Given the description of an element on the screen output the (x, y) to click on. 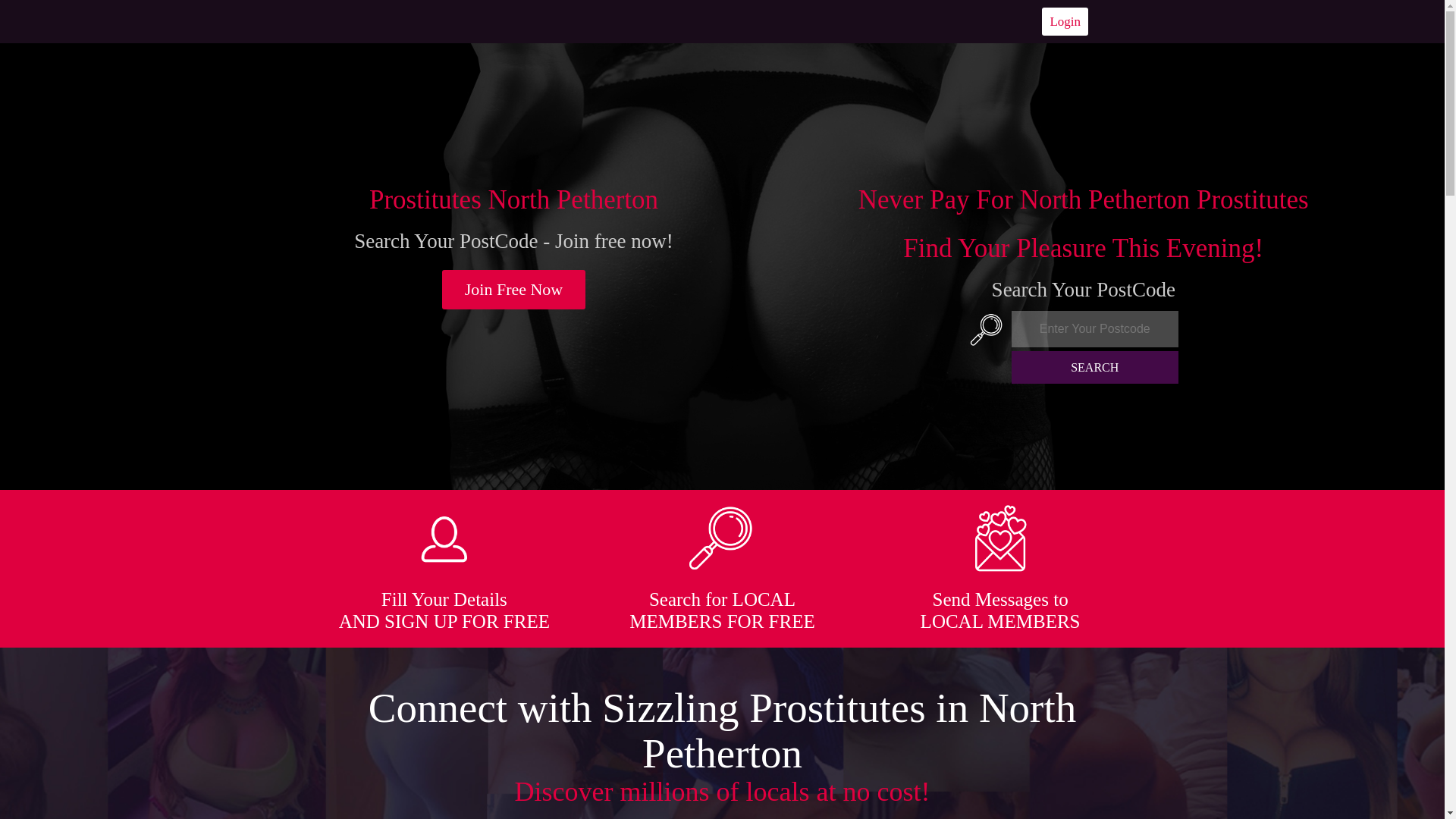
SEARCH (1094, 367)
Login (1064, 21)
Join Free Now (514, 289)
Login (1064, 21)
Join (514, 289)
